Given the description of an element on the screen output the (x, y) to click on. 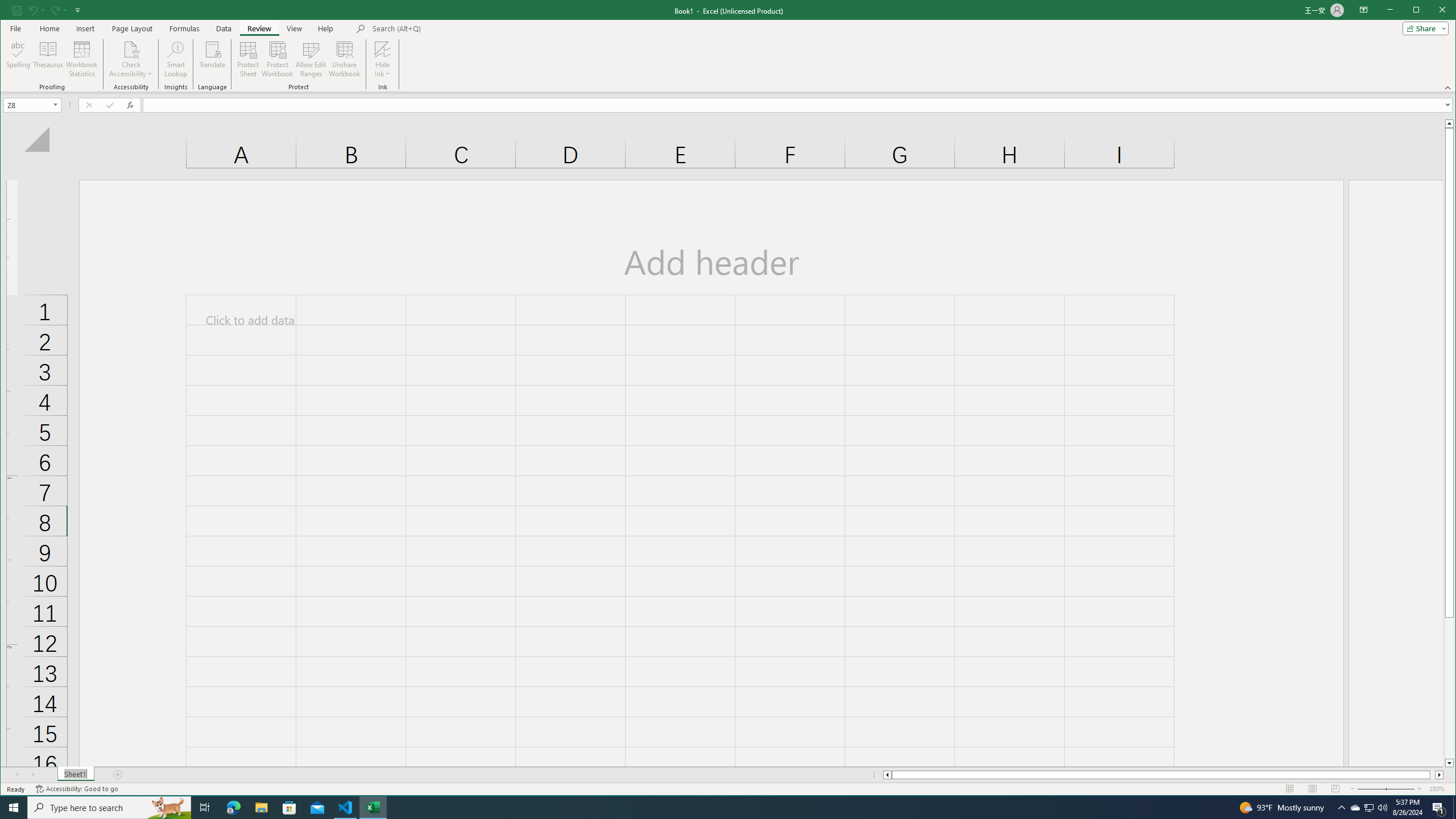
Translate (212, 59)
Action Center, 1 new notification (1439, 807)
